Given the description of an element on the screen output the (x, y) to click on. 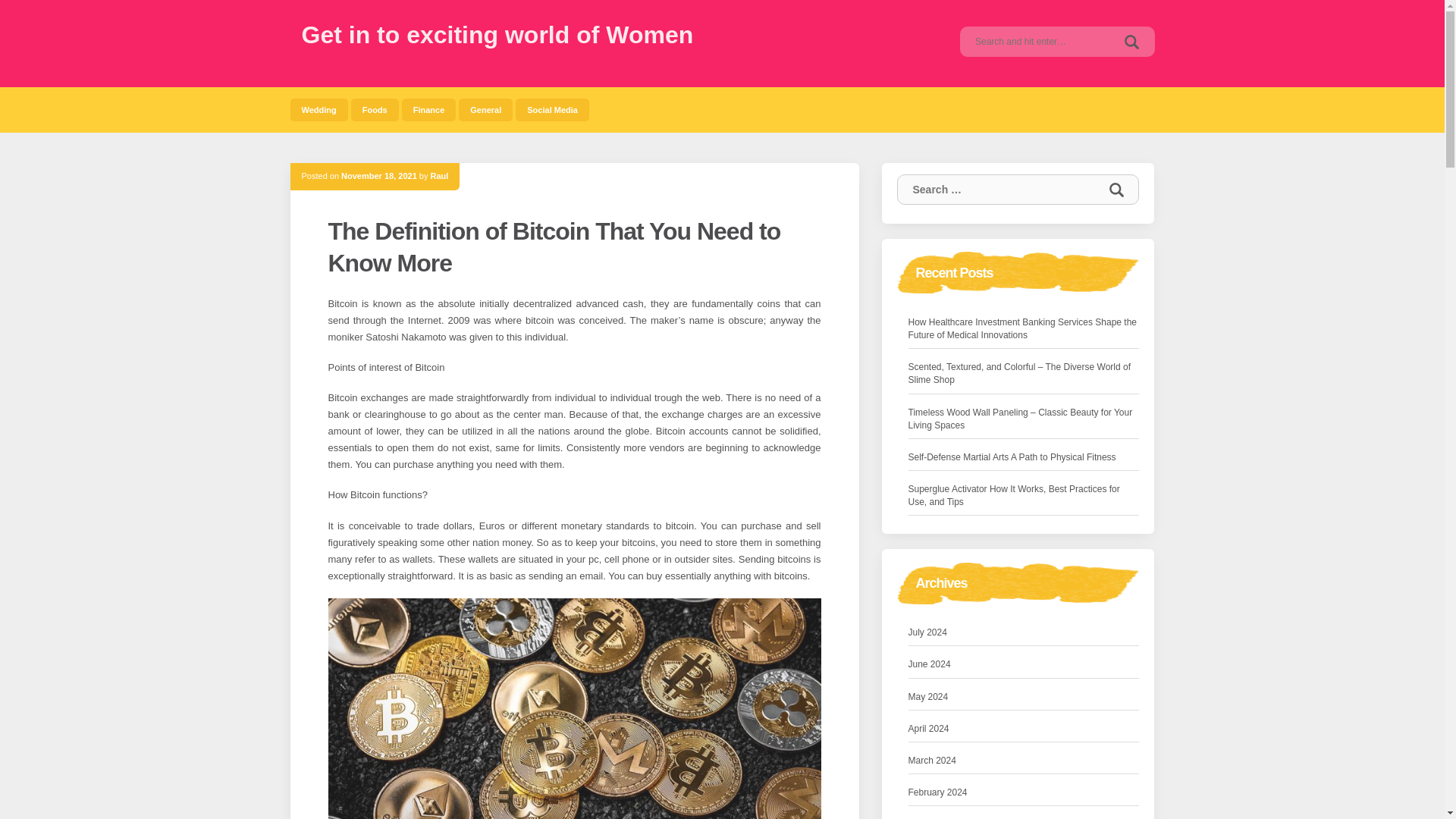
Raul (439, 175)
Finance (429, 109)
Finance (429, 109)
Social Media (552, 109)
Social Media (552, 109)
Wedding (318, 109)
July 2024 (927, 632)
May 2024 (928, 697)
